Given the description of an element on the screen output the (x, y) to click on. 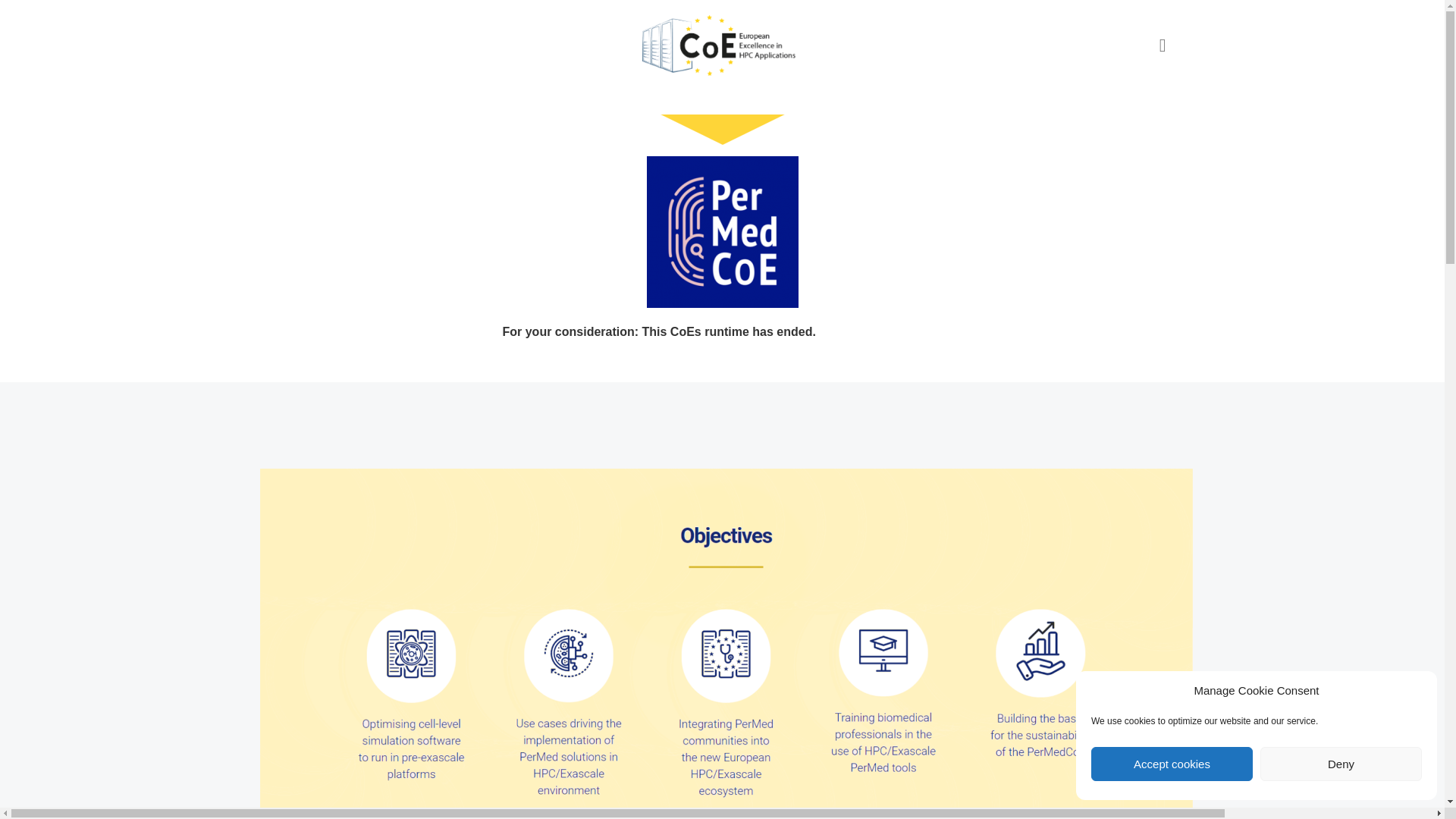
Capture.png (721, 231)
Accept cookies (1171, 763)
Deny (1341, 763)
